Given the description of an element on the screen output the (x, y) to click on. 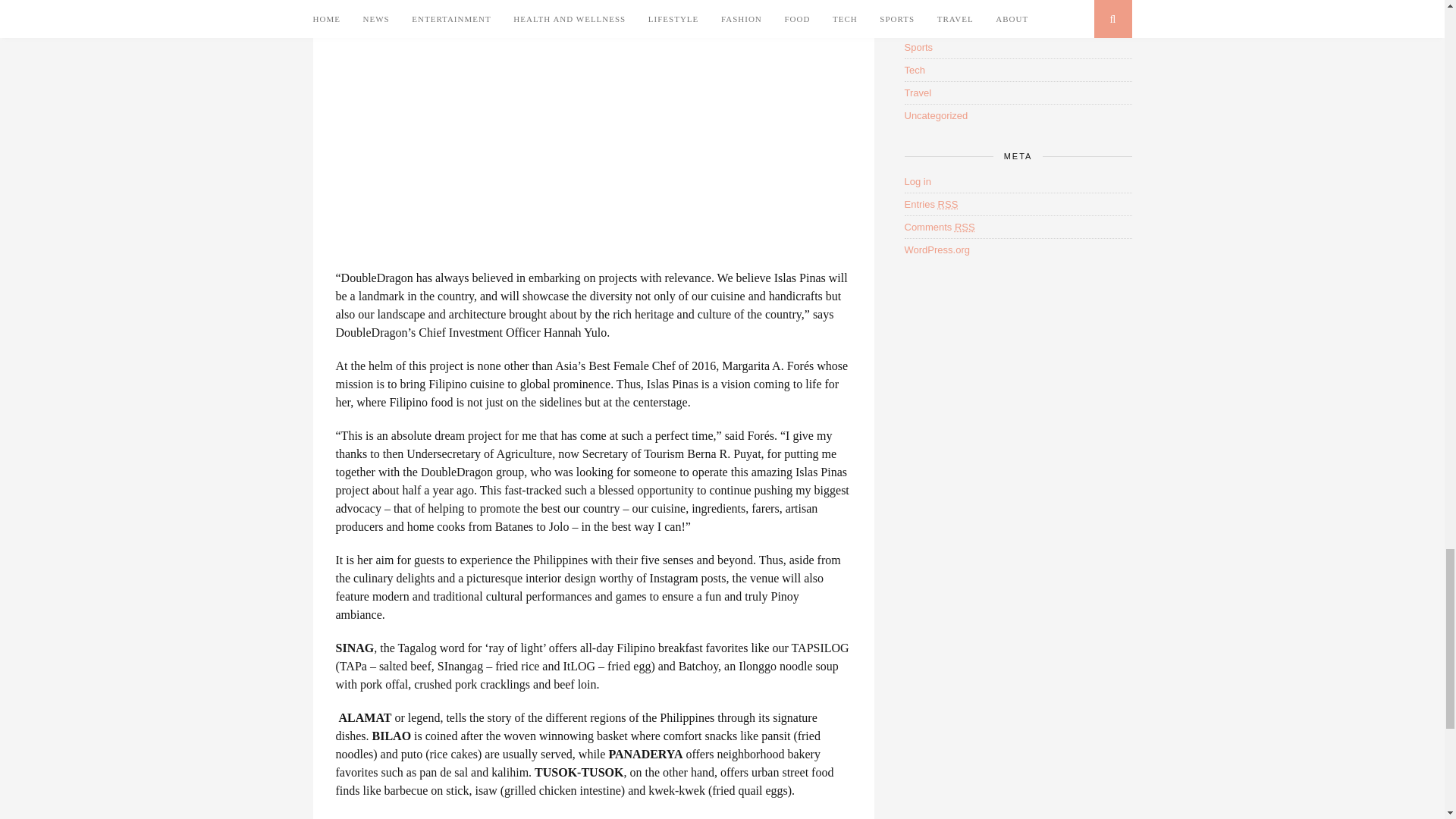
Really Simple Syndication (947, 204)
Really Simple Syndication (965, 226)
